Given the description of an element on the screen output the (x, y) to click on. 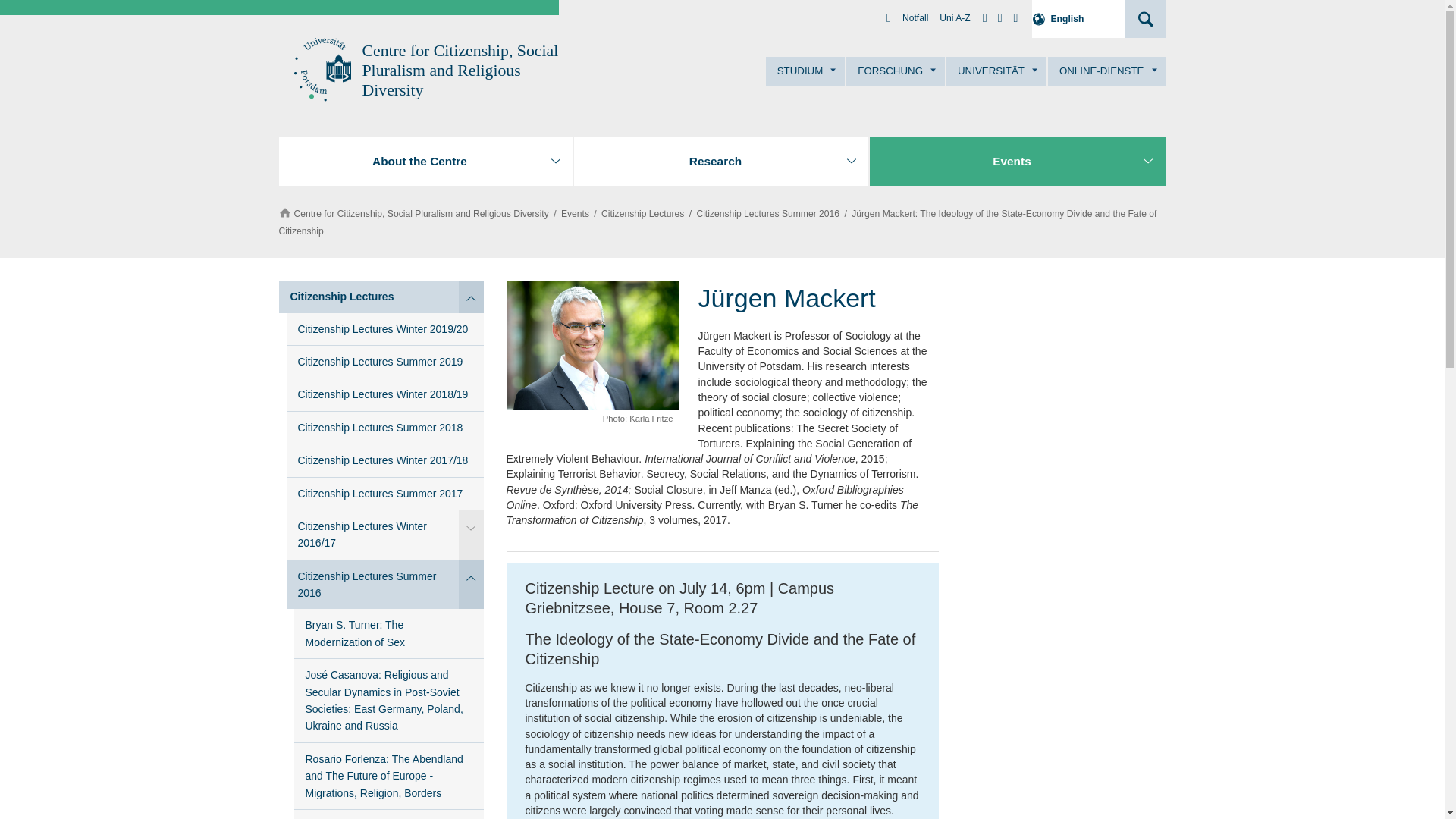
to the Uni-Homepage (319, 70)
Notfall (915, 18)
Uni A-Z (954, 18)
